Given the description of an element on the screen output the (x, y) to click on. 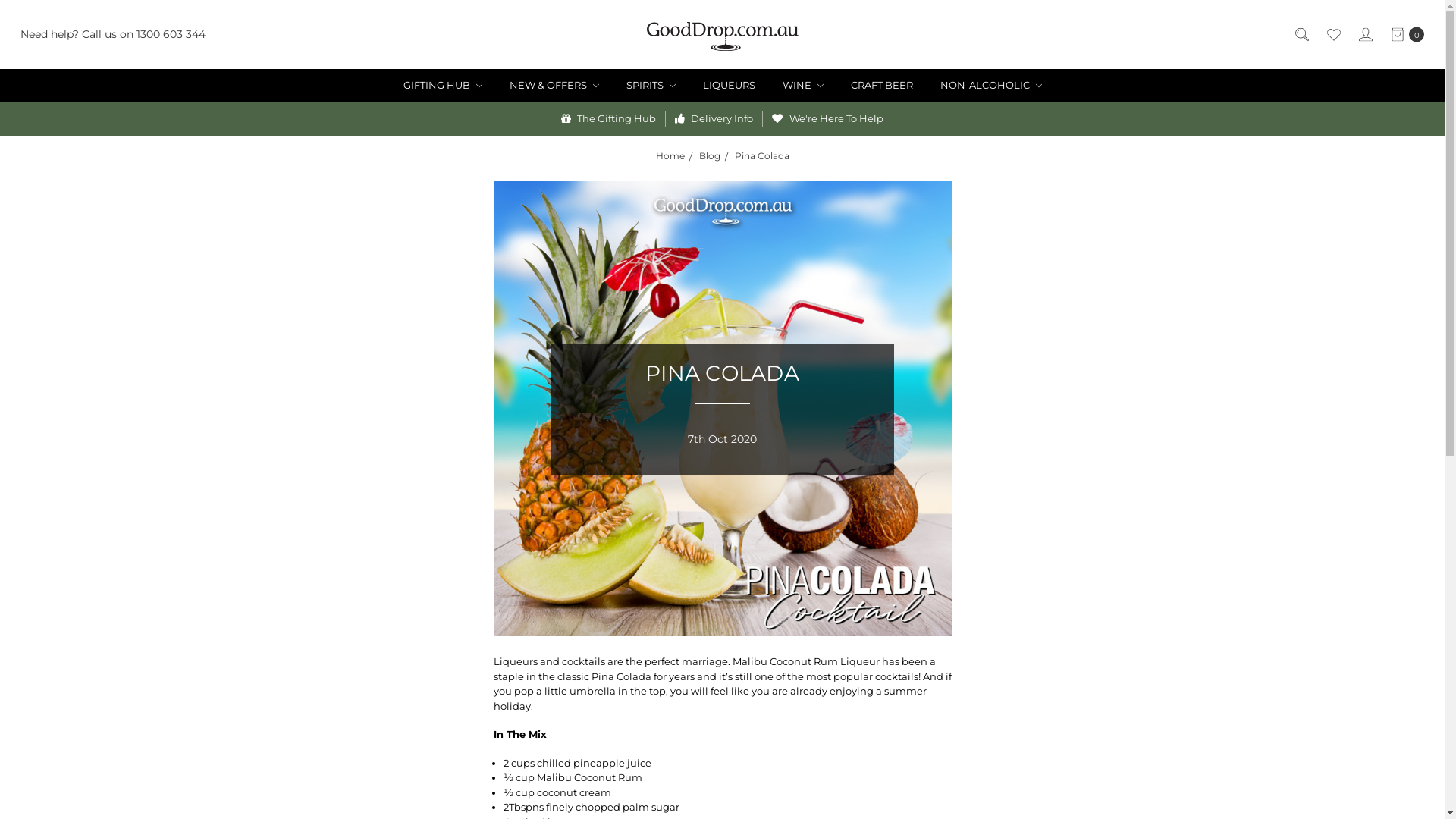
NON-ALCOHOLIC Element type: text (990, 85)
CRAFT BEER Element type: text (881, 85)
WINE Element type: text (802, 85)
GIFTING HUB Element type: text (442, 85)
Blog Element type: text (709, 155)
0 Element type: text (1406, 34)
Delivery Info Element type: text (713, 118)
GoodDrop.com.au Element type: hover (721, 35)
SPIRITS Element type: text (650, 85)
We're Here To Help Element type: text (827, 118)
LIQUEURS Element type: text (728, 85)
The Gifting Hub Element type: text (608, 118)
Pina Colada Element type: hover (721, 408)
Pina Colada Element type: text (761, 155)
Need help? Call us on 1300 603 344 Element type: text (112, 34)
Home Element type: text (669, 155)
NEW & OFFERS Element type: text (553, 85)
